Given the description of an element on the screen output the (x, y) to click on. 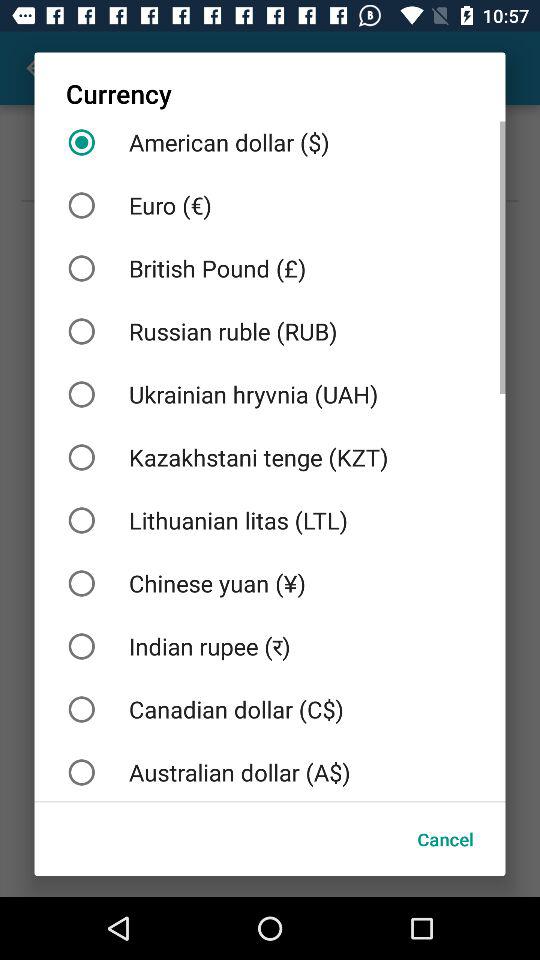
press the cancel item (445, 838)
